Given the description of an element on the screen output the (x, y) to click on. 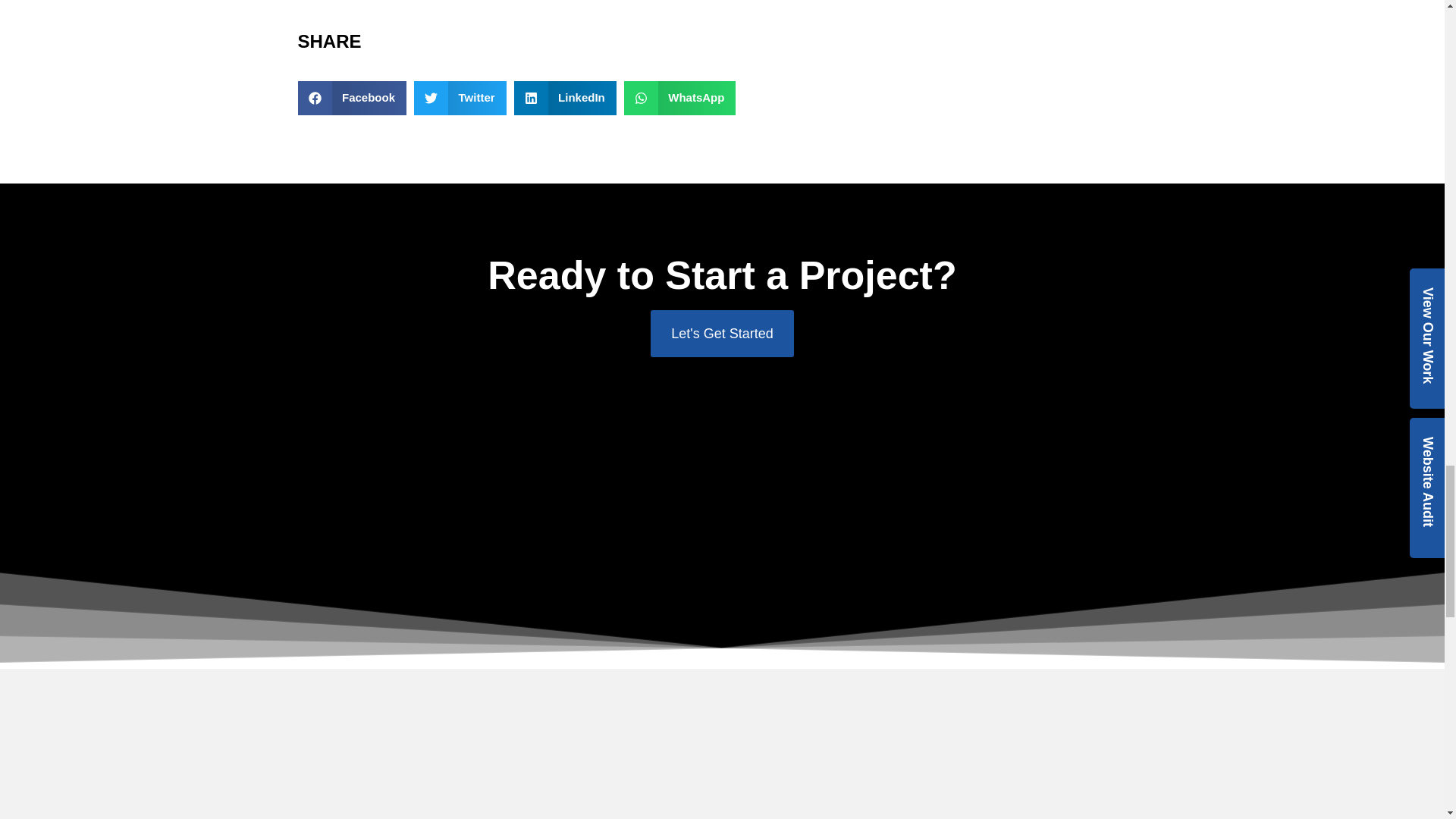
Top Clutch Software Developers Lexington 2023 (638, 770)
